Given the description of an element on the screen output the (x, y) to click on. 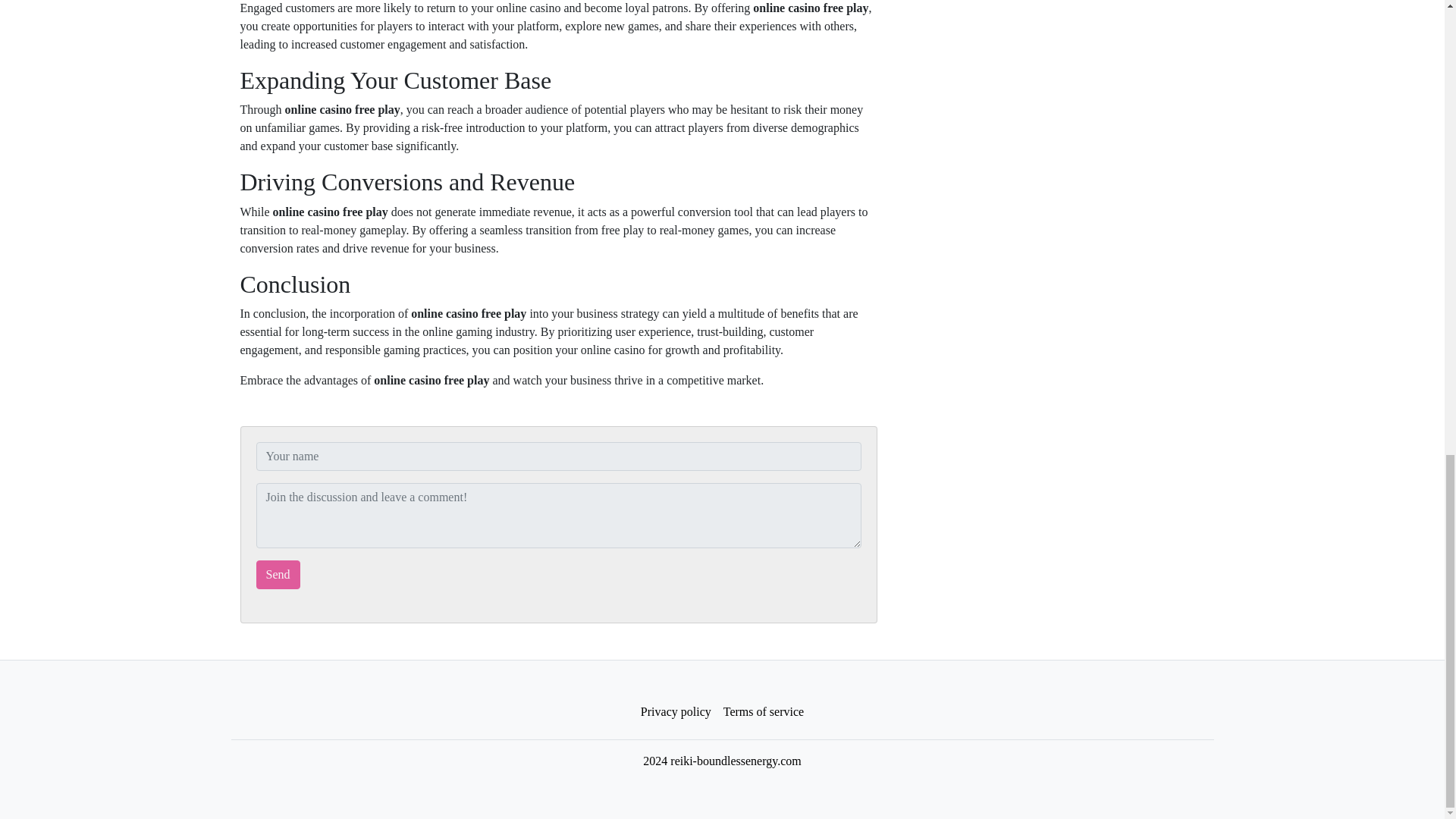
Privacy policy (675, 711)
Terms of service (763, 711)
Send (277, 574)
Send (277, 574)
